Given the description of an element on the screen output the (x, y) to click on. 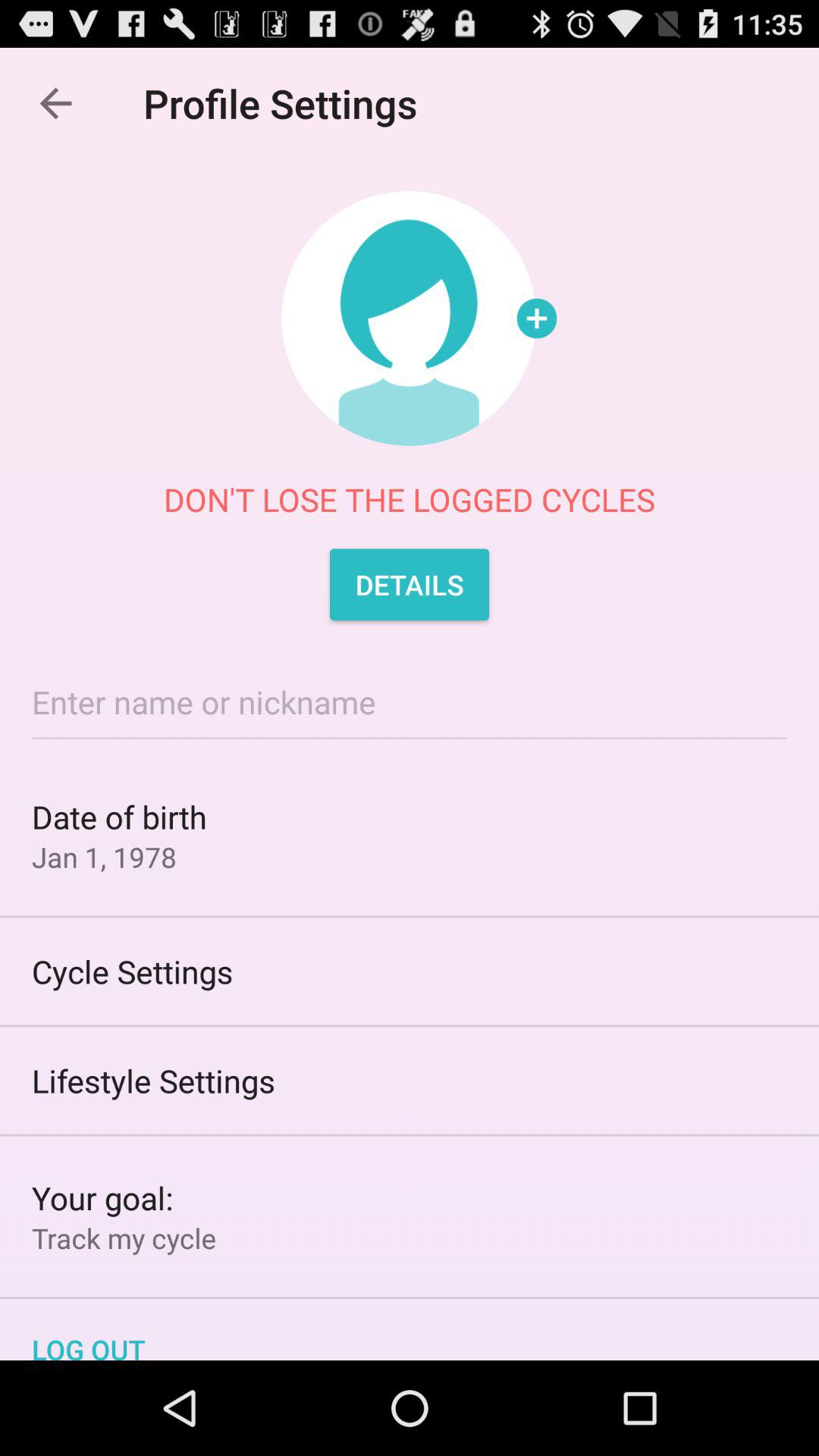
enter name or nickname to set up the profile (409, 701)
